Given the description of an element on the screen output the (x, y) to click on. 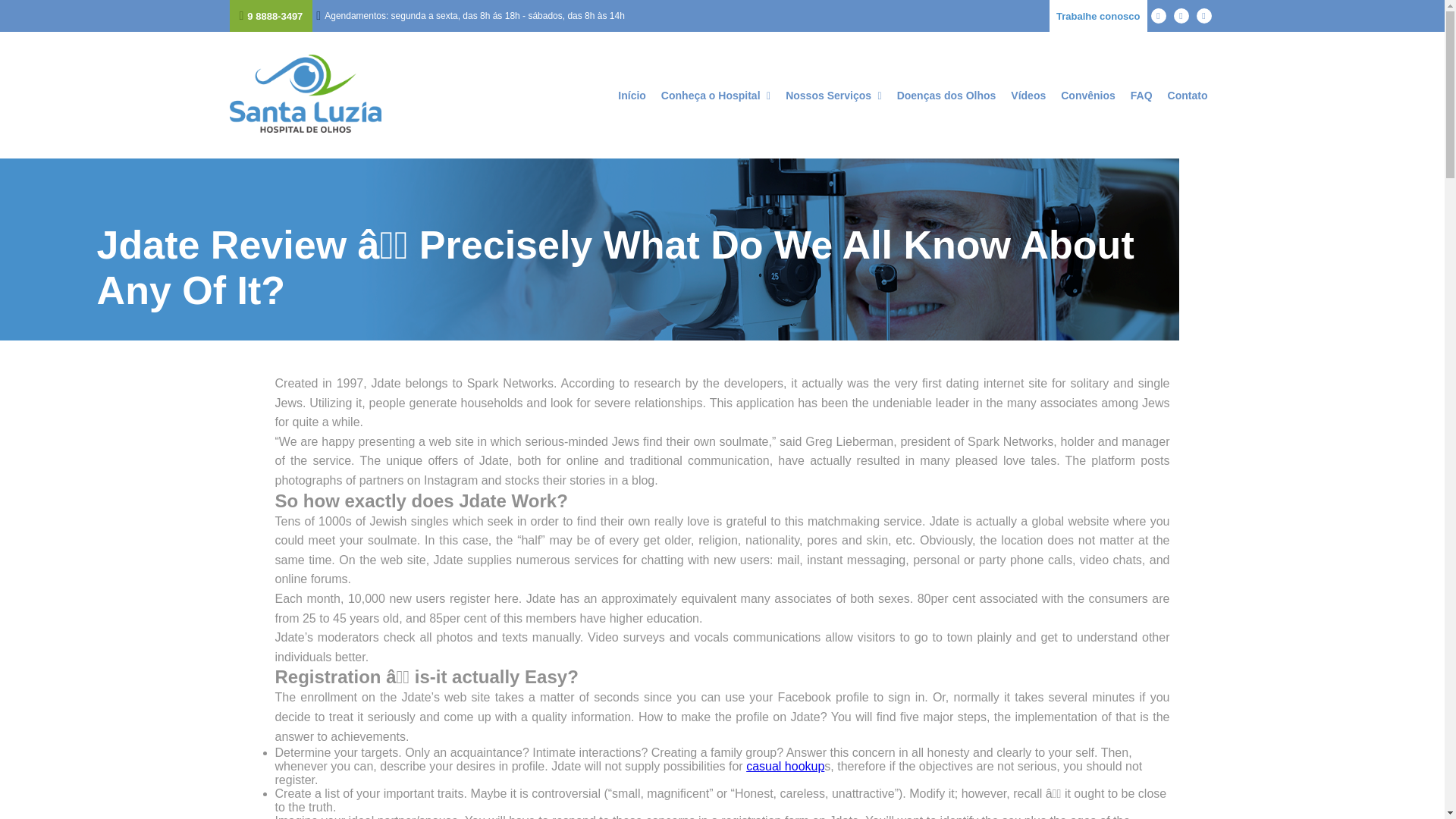
Contato (1187, 95)
Trabalhe conosco (1098, 15)
FAQ (1142, 95)
casual hookup (784, 766)
9 8888-3497 (270, 15)
